Given the description of an element on the screen output the (x, y) to click on. 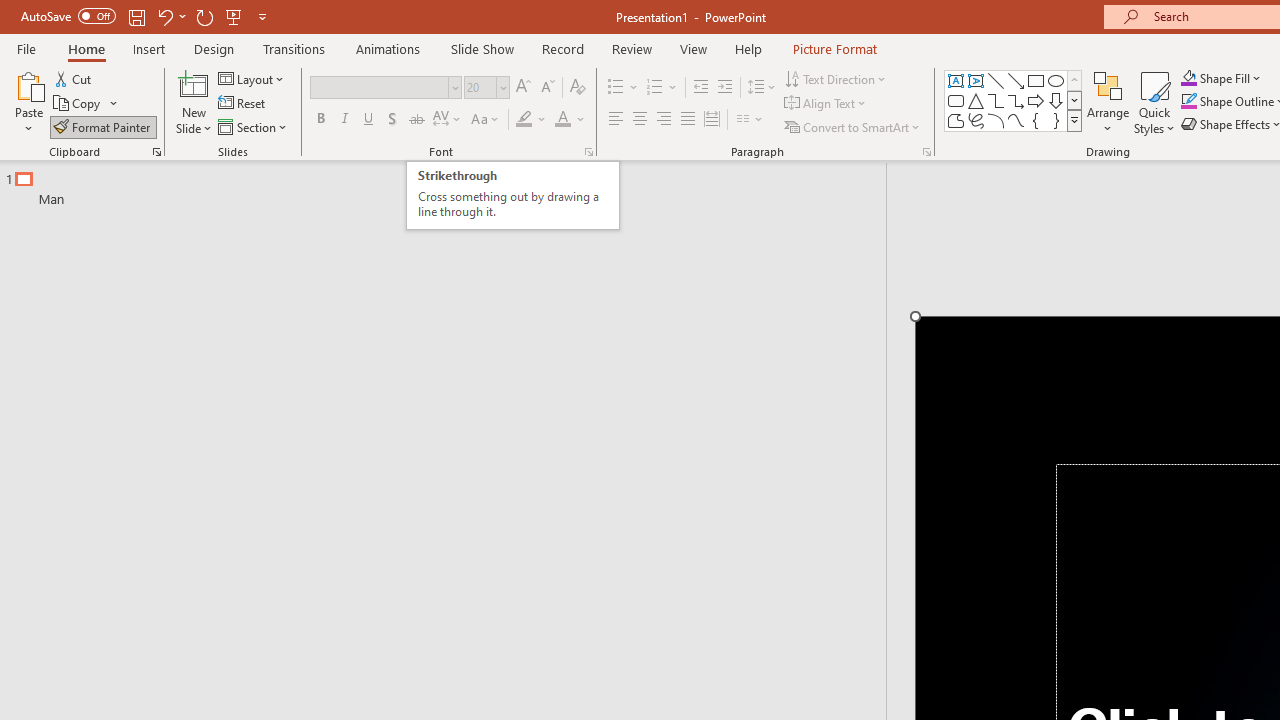
Picture Format (834, 48)
Outline (452, 184)
